Given the description of an element on the screen output the (x, y) to click on. 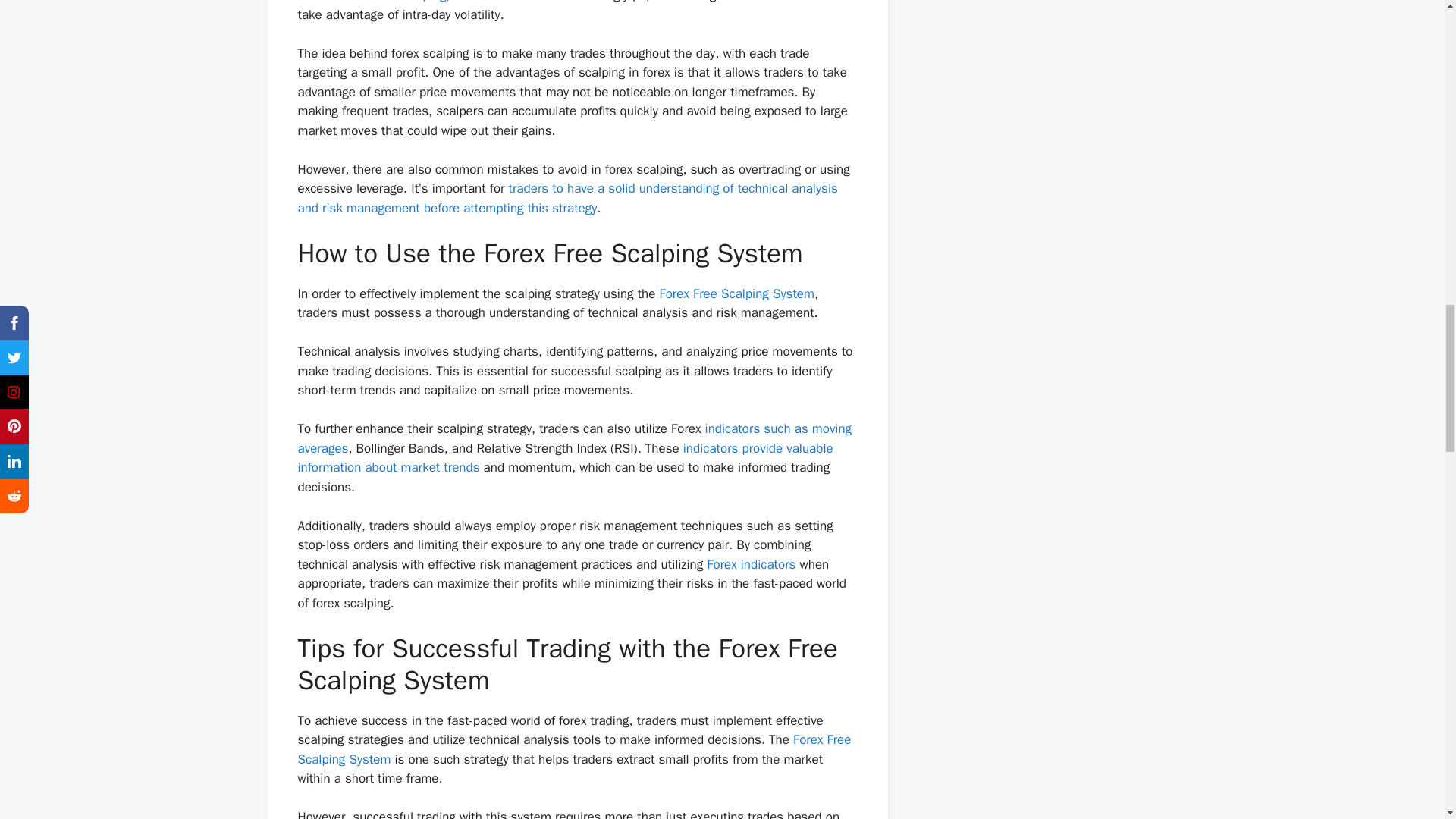
forex scalping (407, 1)
Forex Free Scalping System (736, 293)
indicators such as moving averages (574, 438)
